Given the description of an element on the screen output the (x, y) to click on. 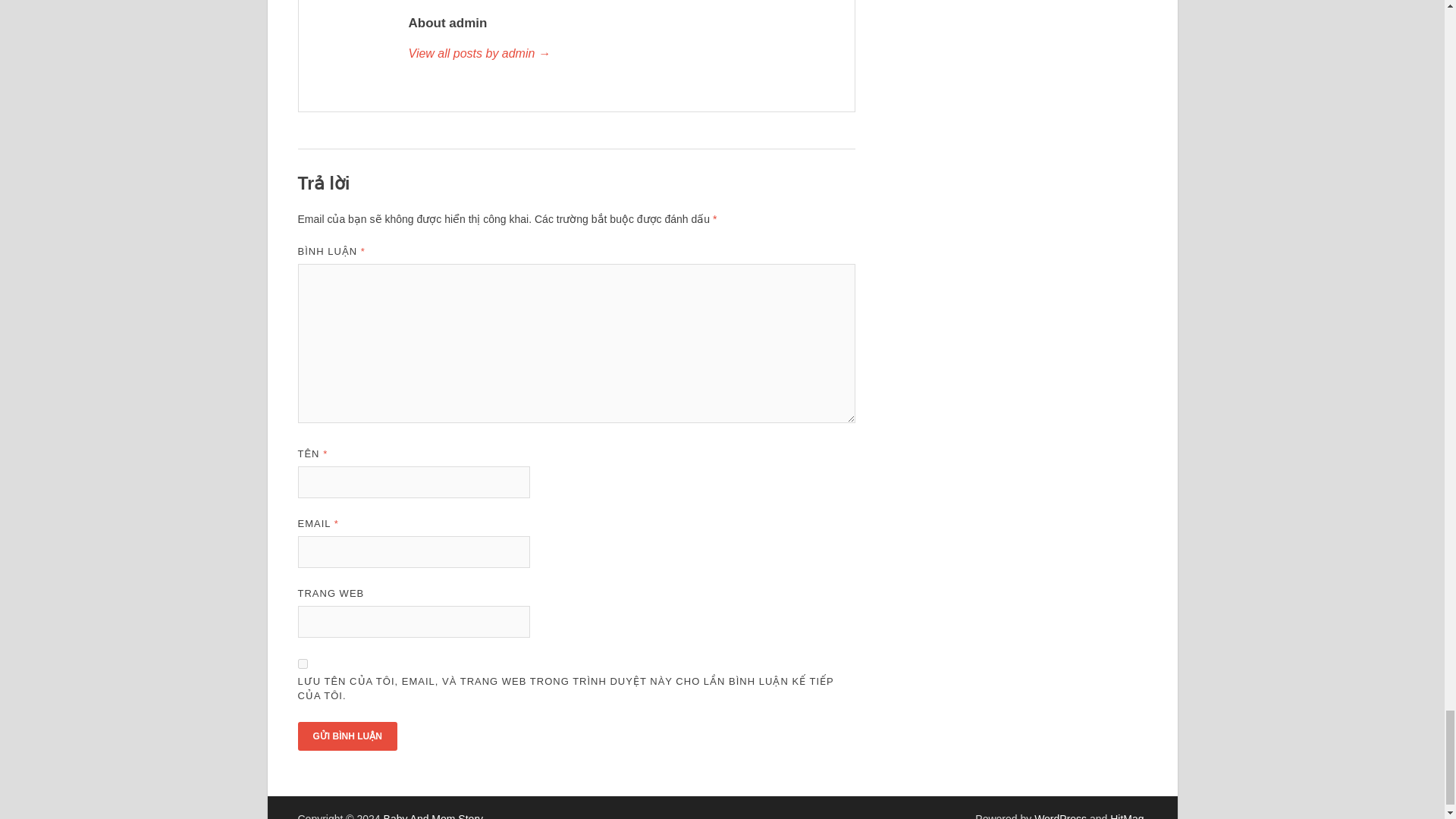
admin (622, 54)
yes (302, 664)
